Given the description of an element on the screen output the (x, y) to click on. 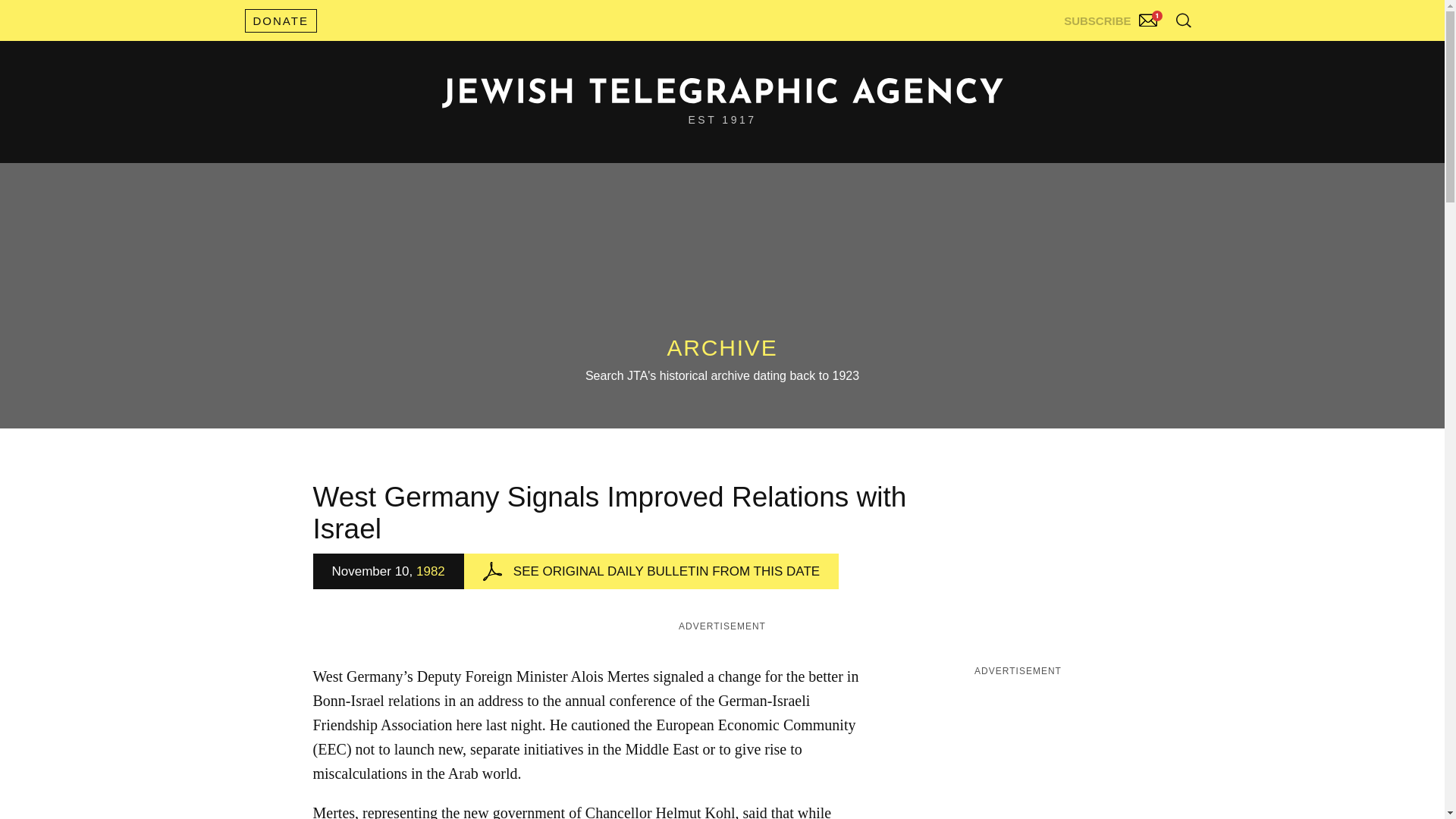
Search (1144, 53)
SEARCH TOGGLESEARCH TOGGLE (1182, 20)
DONATE (279, 20)
SUBSCRIBE (1112, 17)
